Given the description of an element on the screen output the (x, y) to click on. 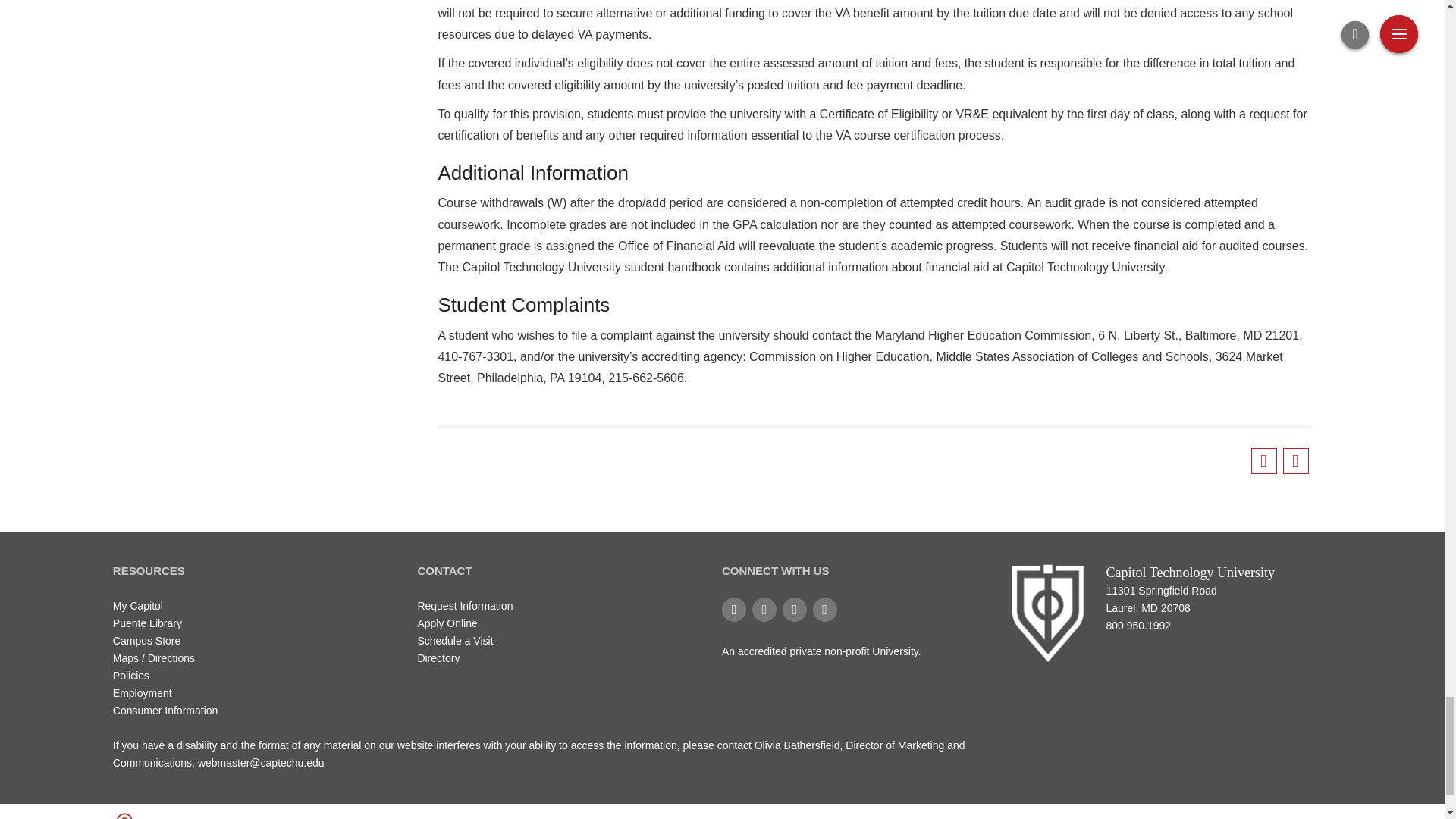
Toll-Free Phone (1218, 633)
